Given the description of an element on the screen output the (x, y) to click on. 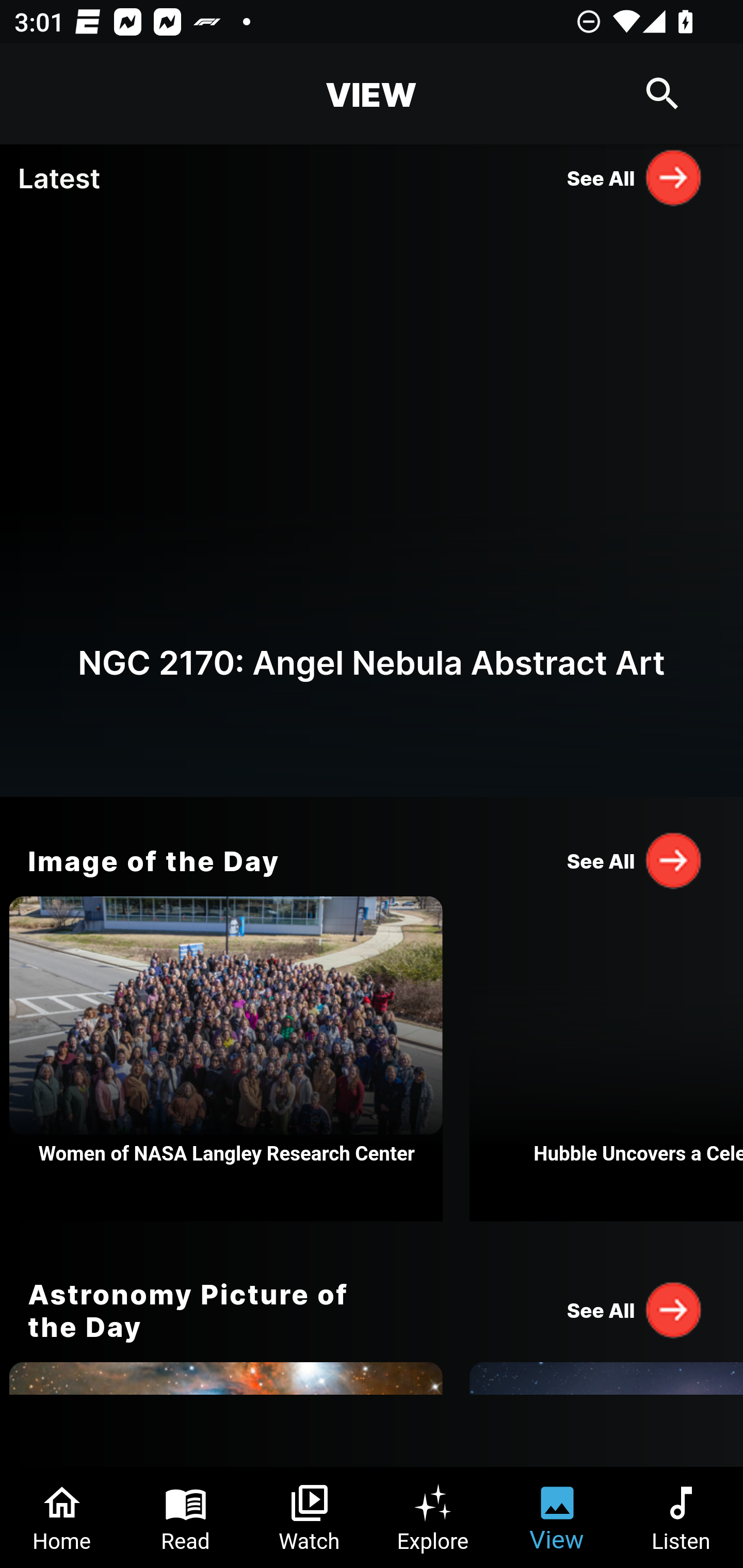
See All (634, 177)
NGC 2170: Angel Nebula Abstract Art
Hello World (371, 503)
See All (634, 860)
Women of NASA Langley Research Center (225, 1058)
Hubble Uncovers a Celestial Fossil (606, 1058)
See All (634, 1309)
Home
Tab 1 of 6 (62, 1517)
Read
Tab 2 of 6 (185, 1517)
Watch
Tab 3 of 6 (309, 1517)
Explore
Tab 4 of 6 (433, 1517)
View
Tab 5 of 6 (556, 1517)
Listen
Tab 6 of 6 (680, 1517)
